Given the description of an element on the screen output the (x, y) to click on. 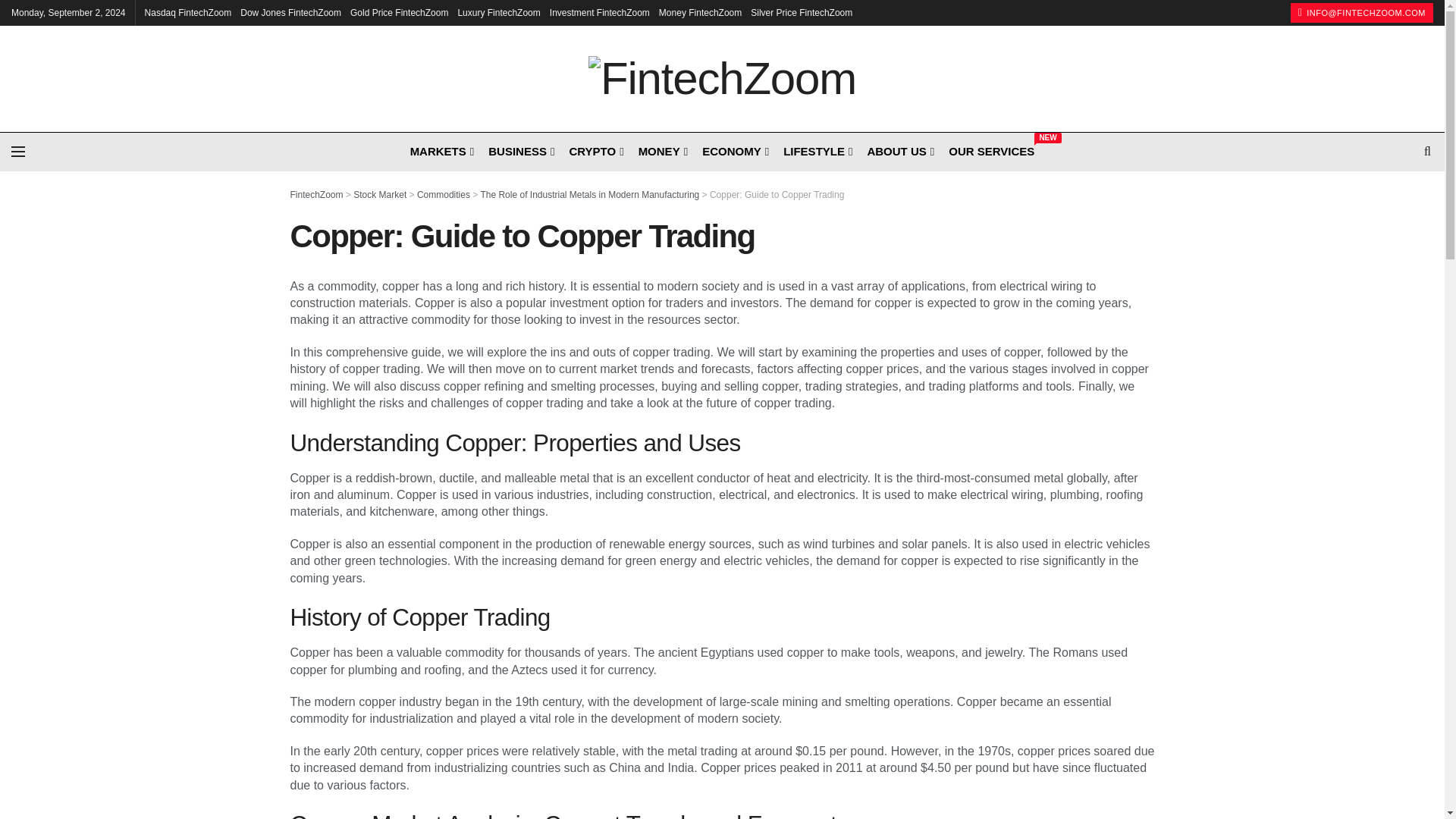
Money FintechZoom (700, 12)
Go to Commodities. (443, 194)
Investment FintechZoom (599, 12)
MARKETS (440, 151)
Dow Jones FintechZoom (290, 12)
Nasdaq FintechZoom (187, 12)
Go to FintechZoom. (315, 194)
Go to The Role of Industrial Metals in Modern Manufacturing. (589, 194)
Gold Price FintechZoom (399, 12)
Silver Price FintechZoom (801, 12)
